Given the description of an element on the screen output the (x, y) to click on. 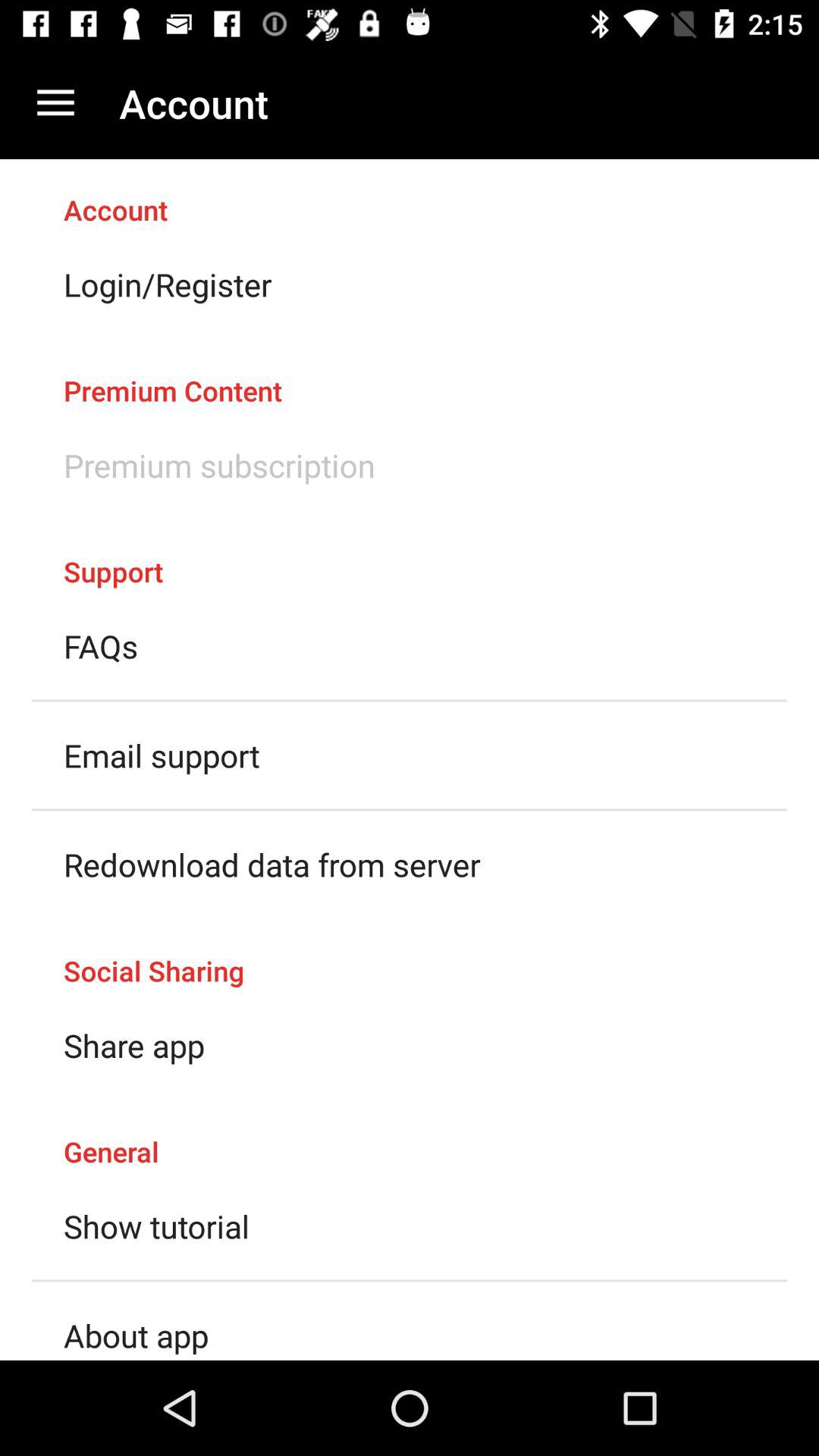
press icon above account icon (55, 103)
